Given the description of an element on the screen output the (x, y) to click on. 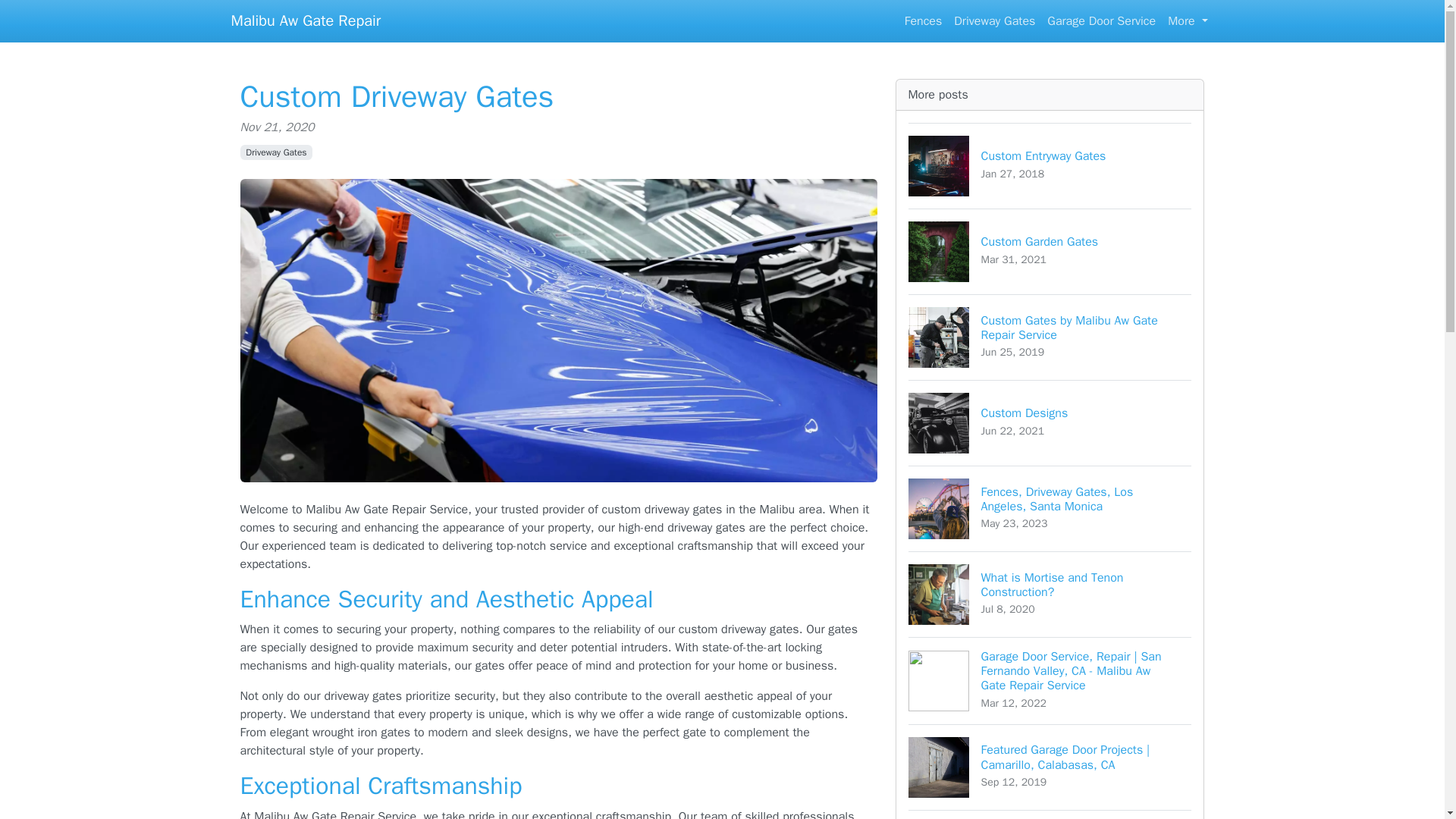
Driveway Gates (994, 20)
Garage Door Service (1050, 594)
Driveway Gates (1101, 20)
Fences (276, 151)
Malibu Aw Gate Repair (1050, 251)
More (923, 20)
